Given the description of an element on the screen output the (x, y) to click on. 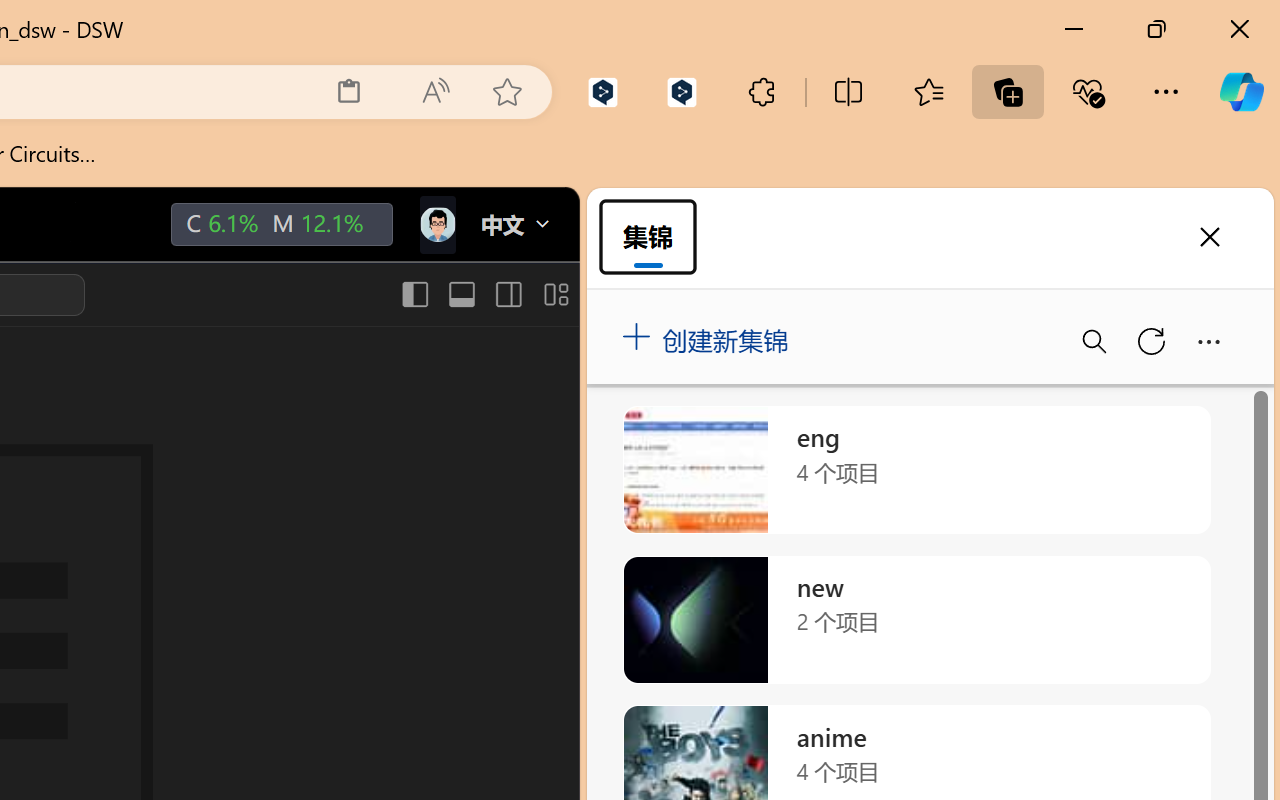
Title actions (484, 294)
Class: next-menu next-hoz widgets--iconMenu--BFkiHRM (436, 225)
Copilot (Ctrl+Shift+.) (1241, 91)
Toggle Secondary Side Bar (Ctrl+Alt+B) (506, 294)
Toggle Panel (Ctrl+J) (461, 294)
